Given the description of an element on the screen output the (x, y) to click on. 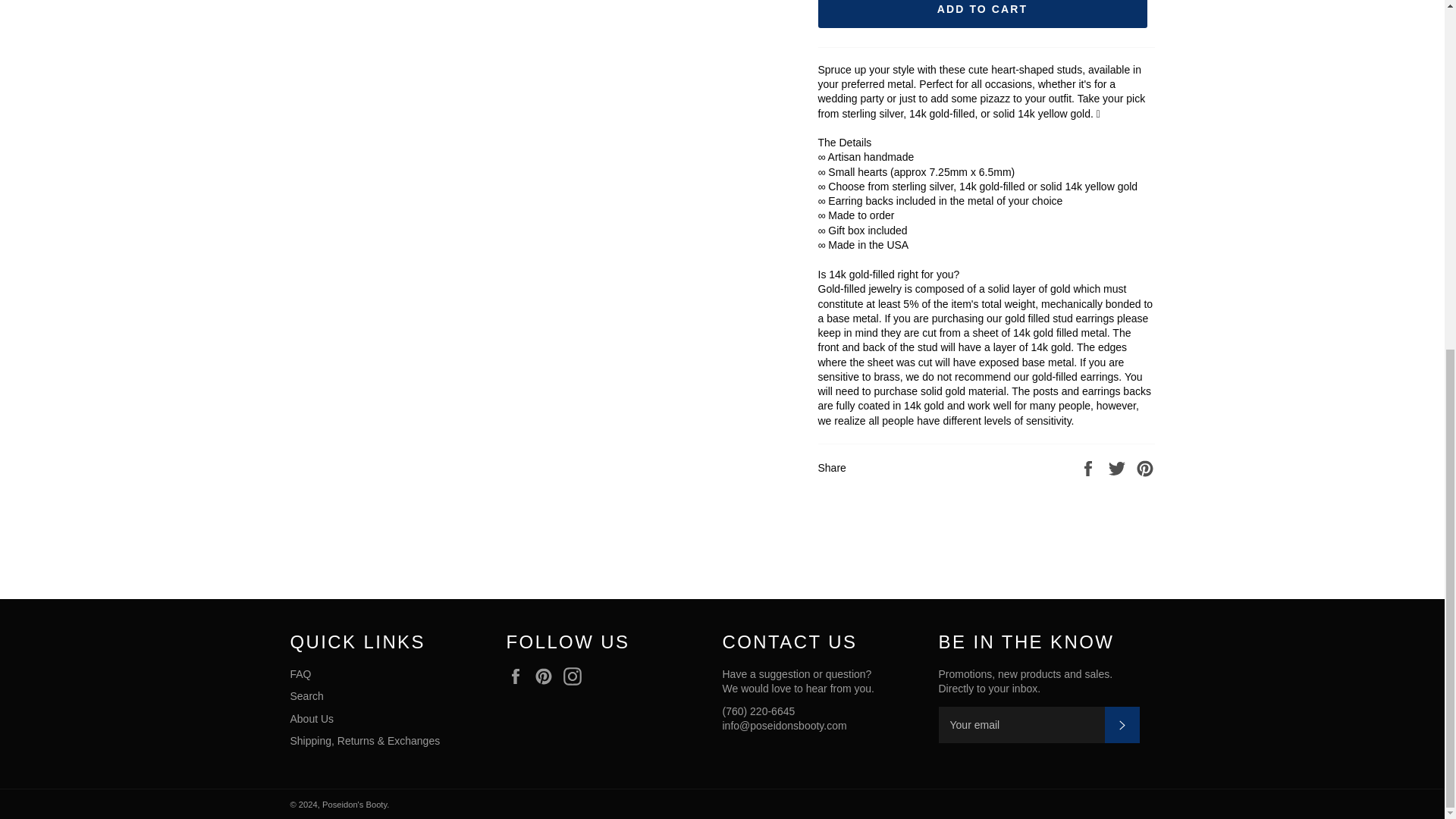
Pin on Pinterest (1144, 467)
Poseidon's Booty on Facebook (519, 676)
Poseidon's Booty on Pinterest (547, 676)
Poseidon's Booty on Instagram (576, 676)
Tweet on Twitter (1118, 467)
Share on Facebook (1089, 467)
